Given the description of an element on the screen output the (x, y) to click on. 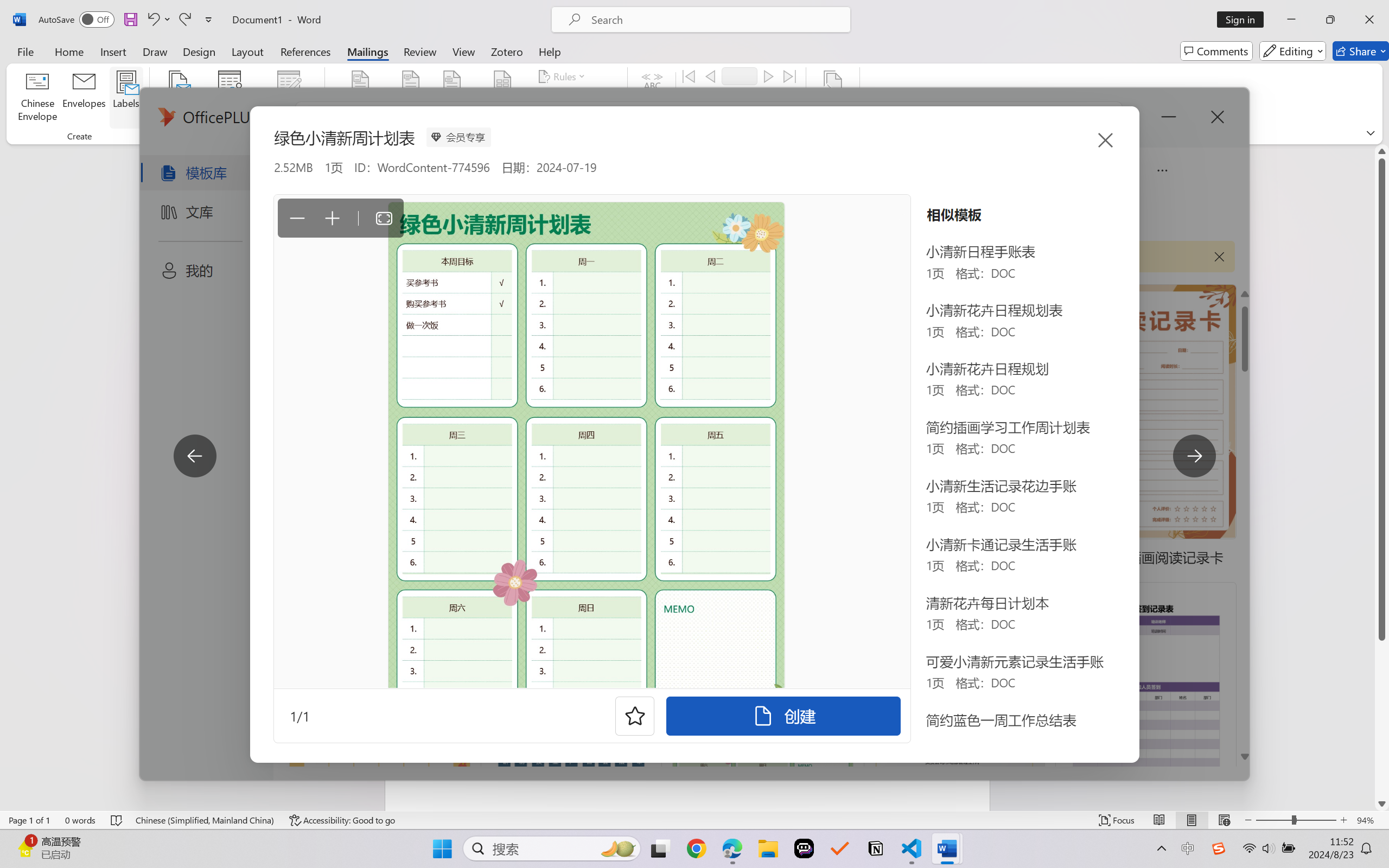
Next (768, 75)
Last (790, 75)
Record (739, 76)
Language Chinese (Simplified, Mainland China) (205, 819)
Find Recipient... (723, 97)
Match Fields... (573, 97)
